Given the description of an element on the screen output the (x, y) to click on. 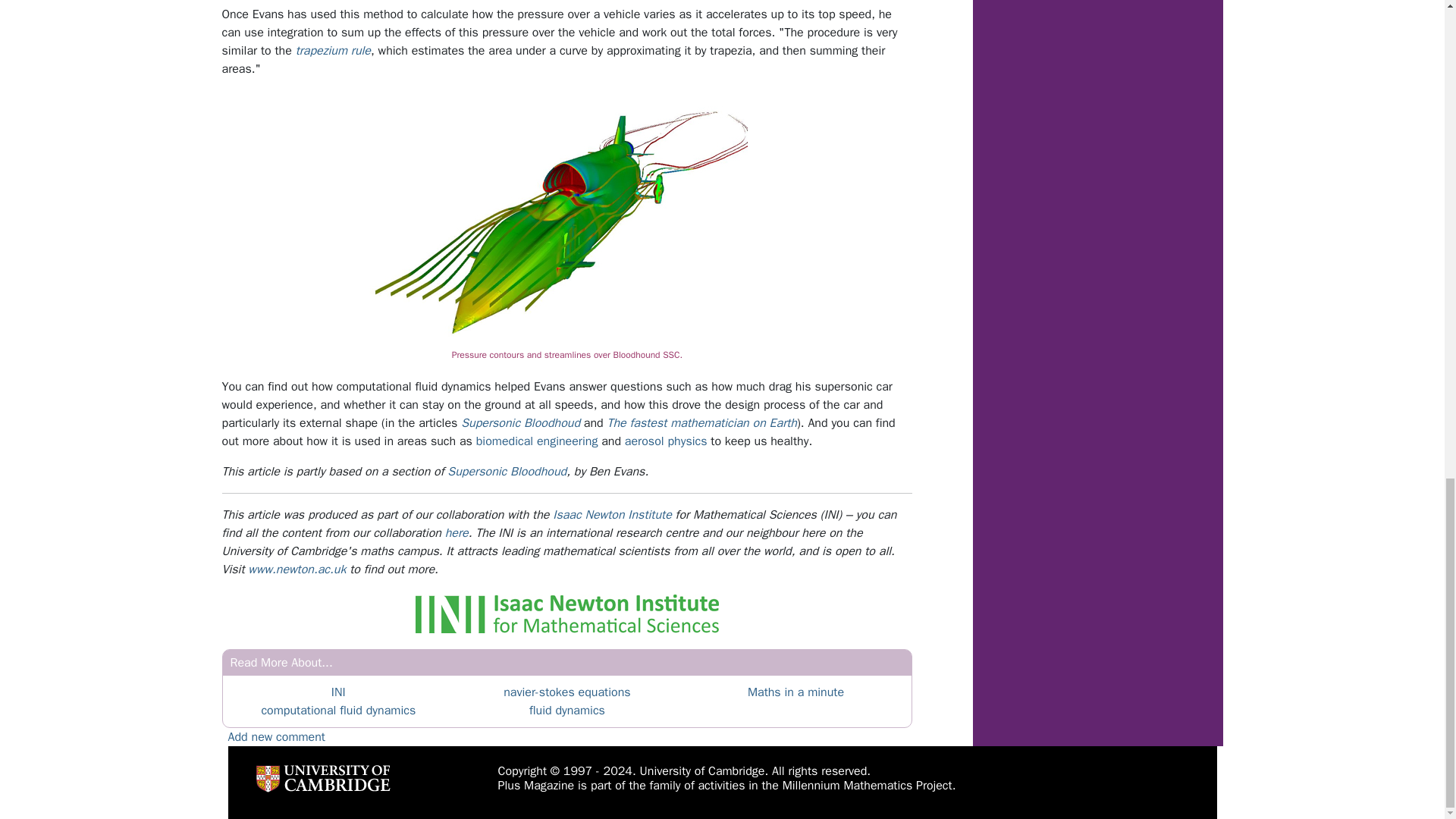
Isaac Newton Institute (612, 514)
trapezium rule (333, 50)
Share your thoughts and opinions. (275, 736)
biomedical engineering (537, 441)
Supersonic Bloodhoud (506, 471)
aerosol physics (665, 441)
The fastest mathematician on Earth (701, 422)
here (456, 532)
Supersonic Bloodhoud (520, 422)
www.newton.ac.uk (296, 569)
